Given the description of an element on the screen output the (x, y) to click on. 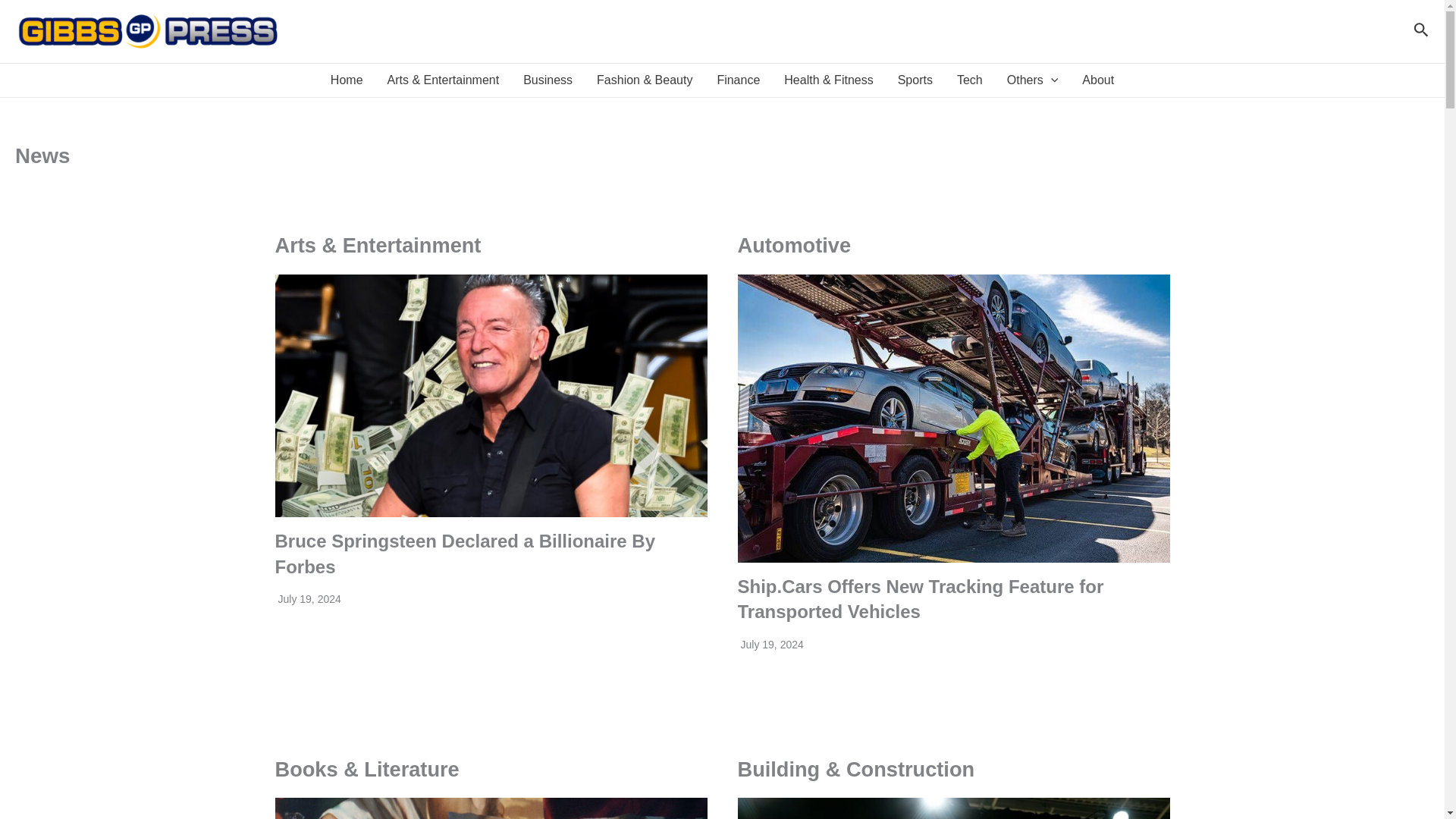
Home (346, 80)
Business (548, 80)
Tech (969, 80)
Finance (737, 80)
Sports (914, 80)
About (1097, 80)
Others (1032, 80)
